Given the description of an element on the screen output the (x, y) to click on. 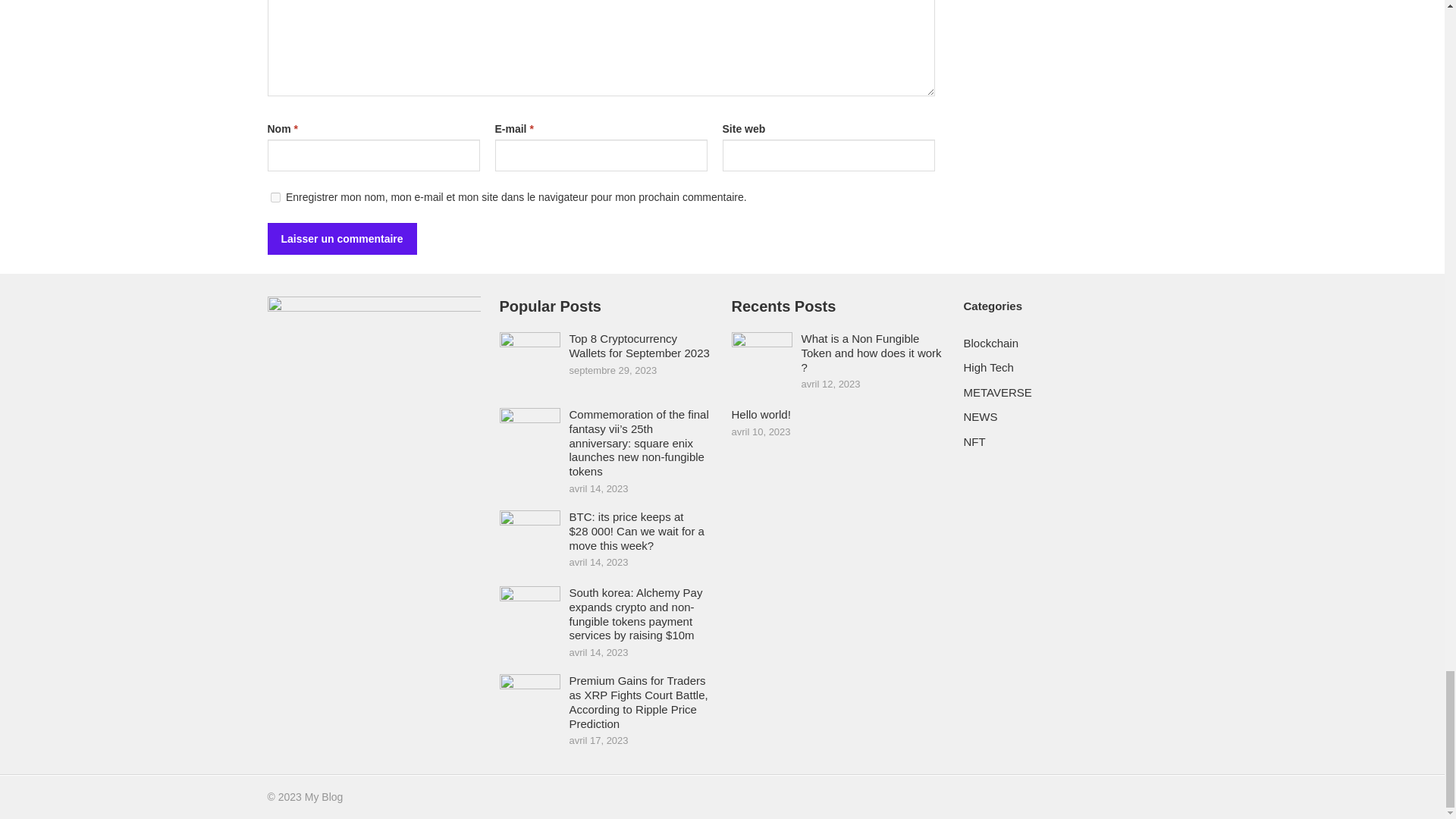
Laisser un commentaire (341, 238)
Laisser un commentaire (341, 238)
yes (274, 197)
